Given the description of an element on the screen output the (x, y) to click on. 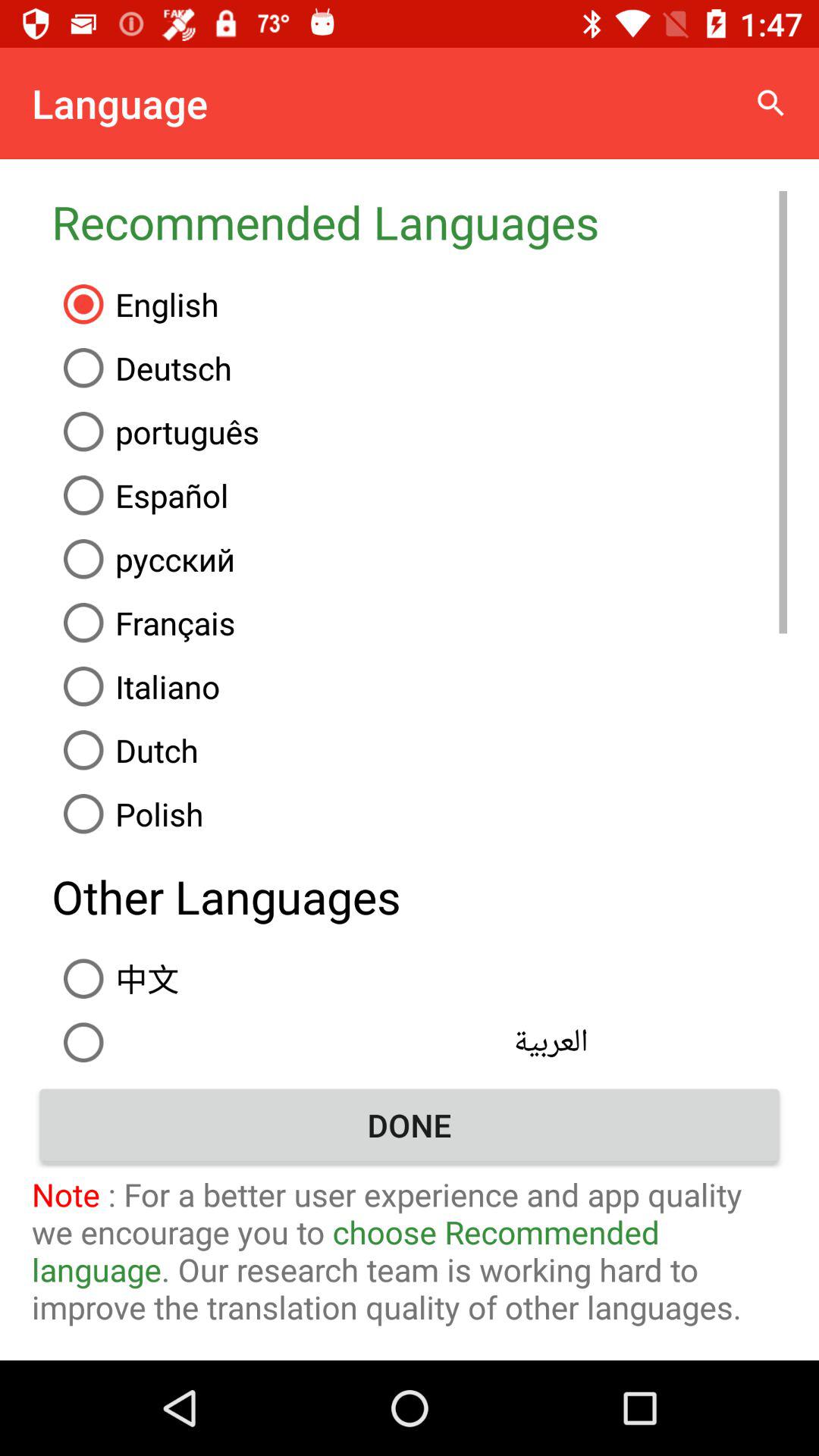
turn off filipino (419, 1075)
